Given the description of an element on the screen output the (x, y) to click on. 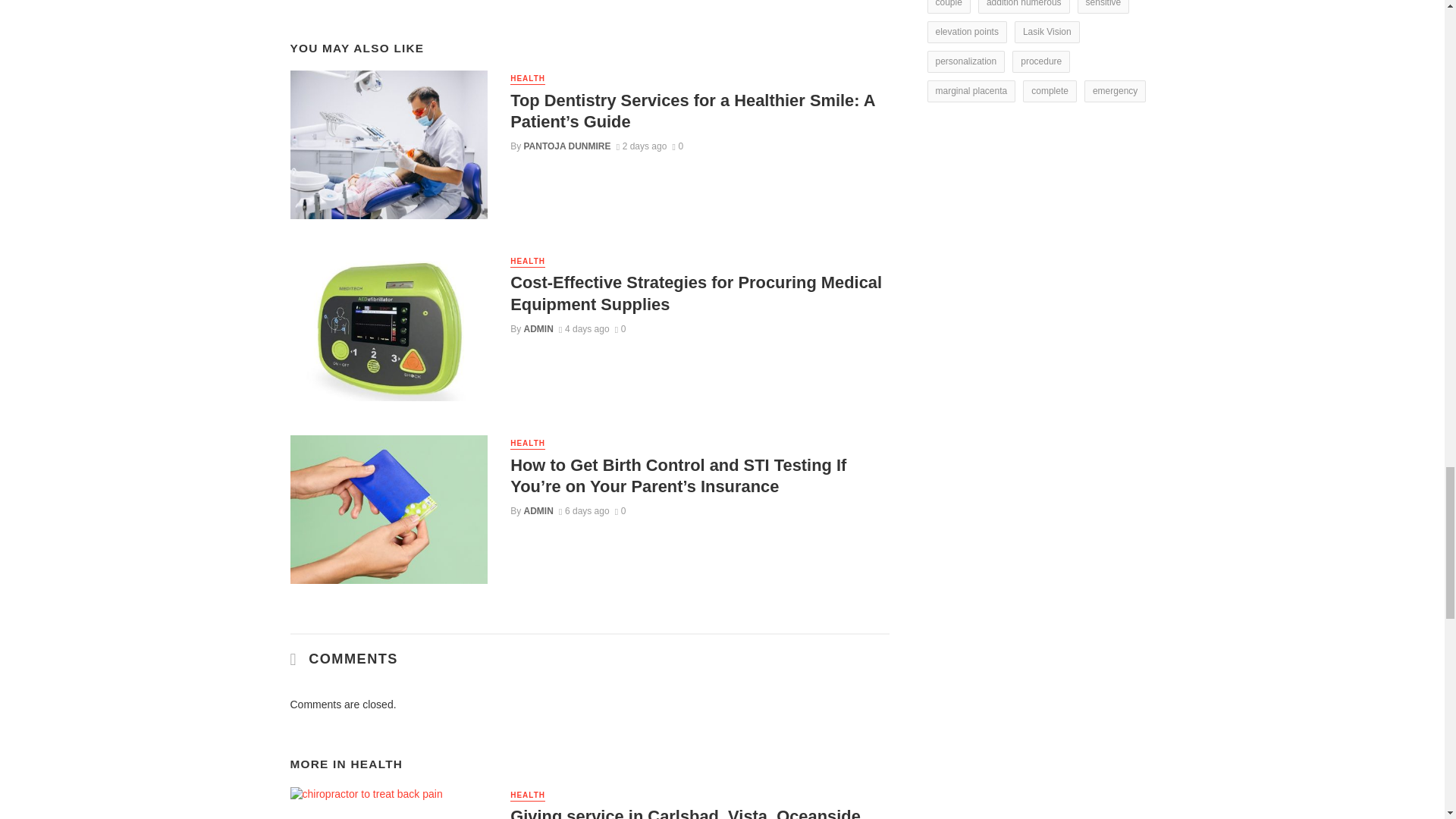
HEALTH (527, 79)
PANTOJA DUNMIRE (567, 145)
HEALTH (527, 261)
0 (676, 145)
